Given the description of an element on the screen output the (x, y) to click on. 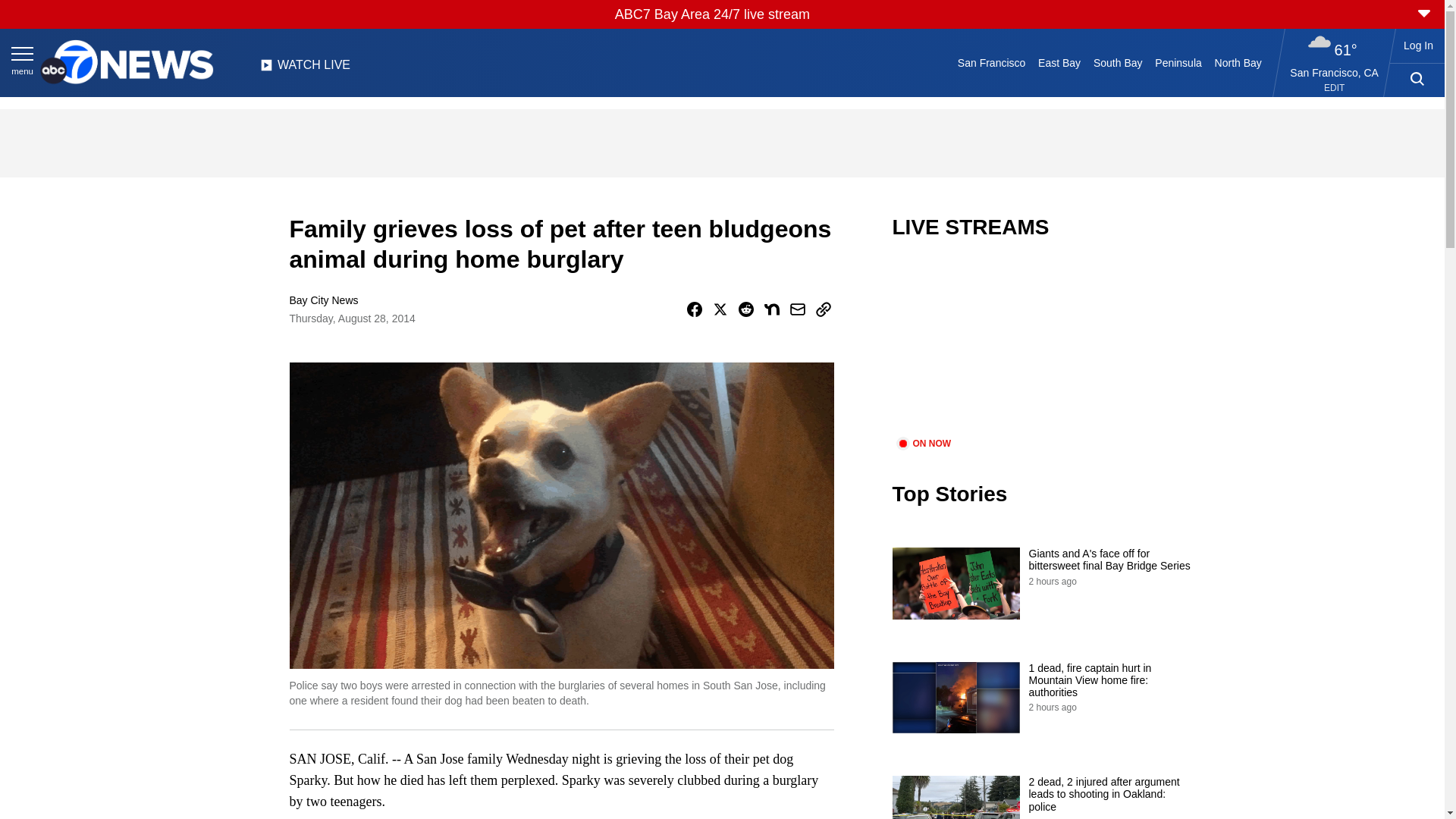
video.title (1043, 347)
San Francisco, CA (1334, 72)
Peninsula (1178, 62)
North Bay (1238, 62)
East Bay (1059, 62)
San Francisco (990, 62)
WATCH LIVE (305, 69)
South Bay (1117, 62)
EDIT (1333, 87)
